Given the description of an element on the screen output the (x, y) to click on. 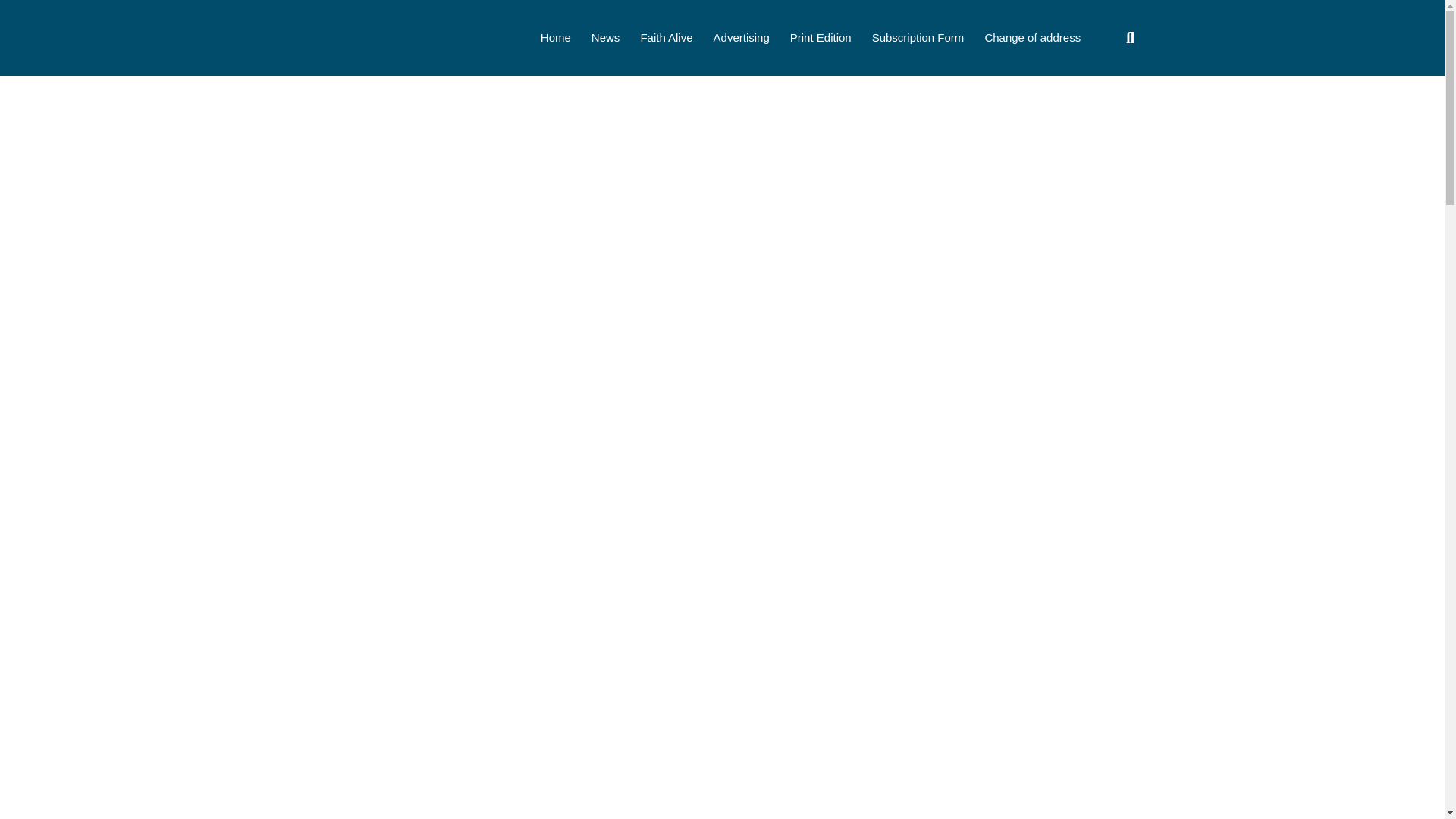
Subscription Form (917, 38)
Change of address (1032, 38)
